Given the description of an element on the screen output the (x, y) to click on. 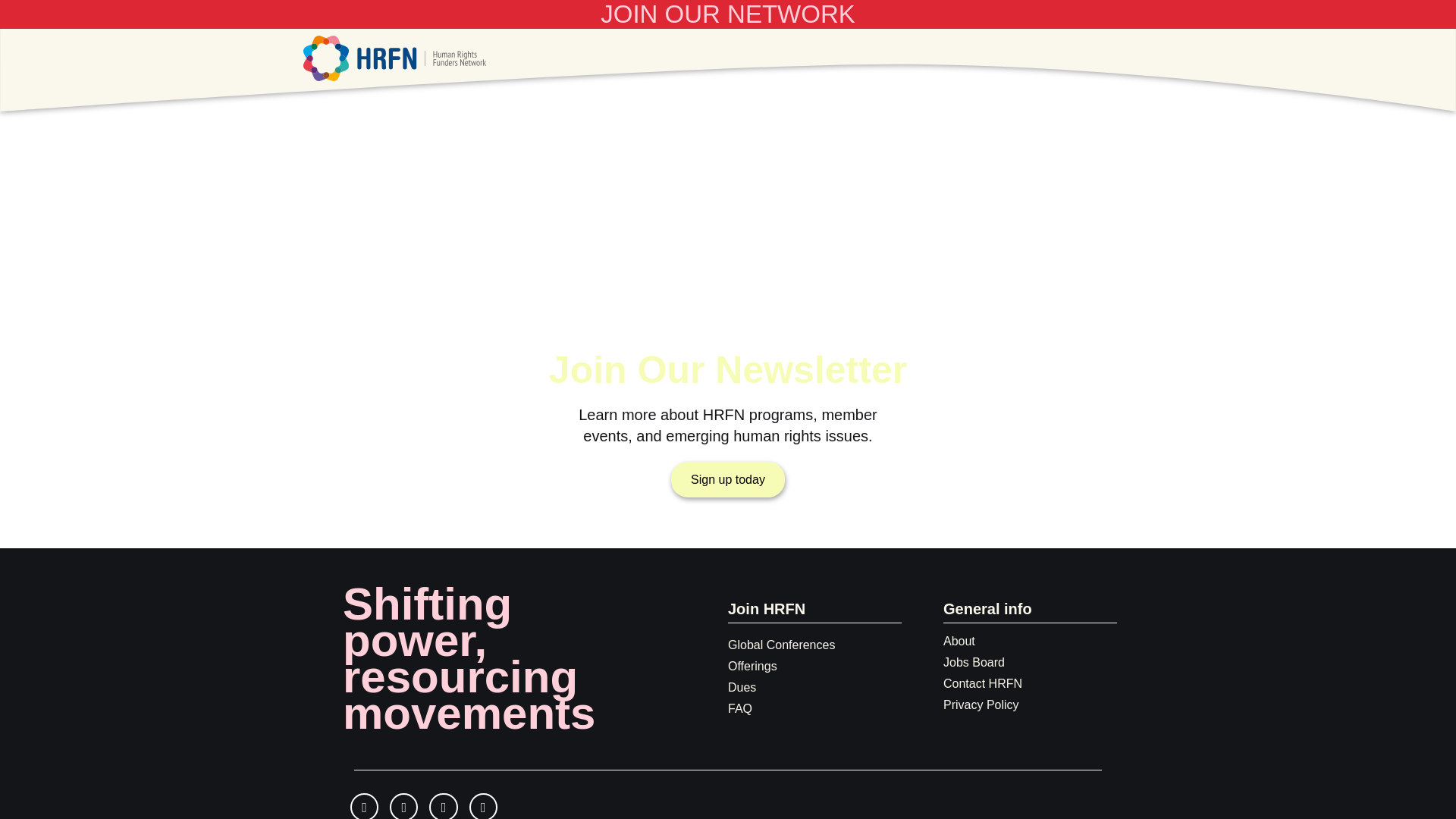
Facebook (364, 806)
Instagram (403, 806)
Offerings (752, 666)
Dues (741, 686)
Twitter (443, 806)
LinkedIn (482, 806)
